Given the description of an element on the screen output the (x, y) to click on. 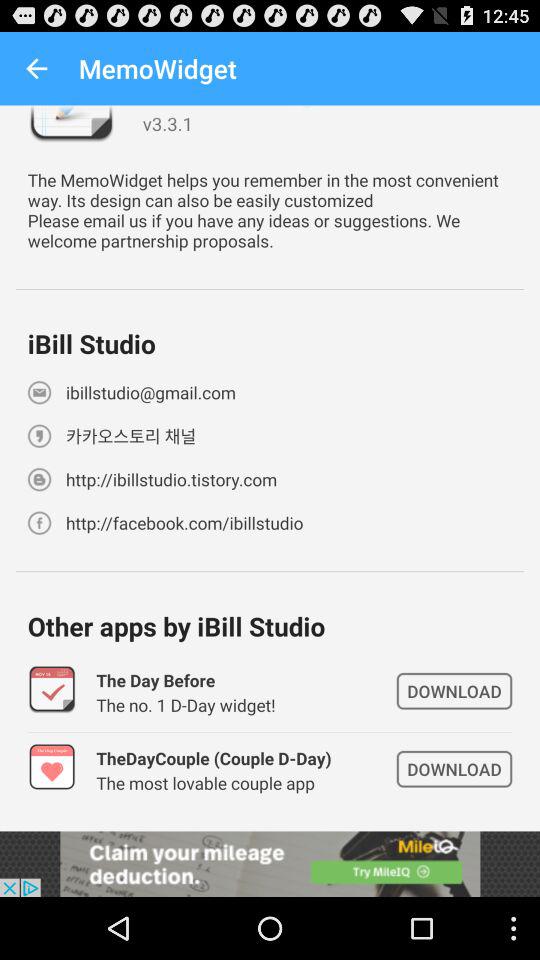
enter advertisement (270, 864)
